Given the description of an element on the screen output the (x, y) to click on. 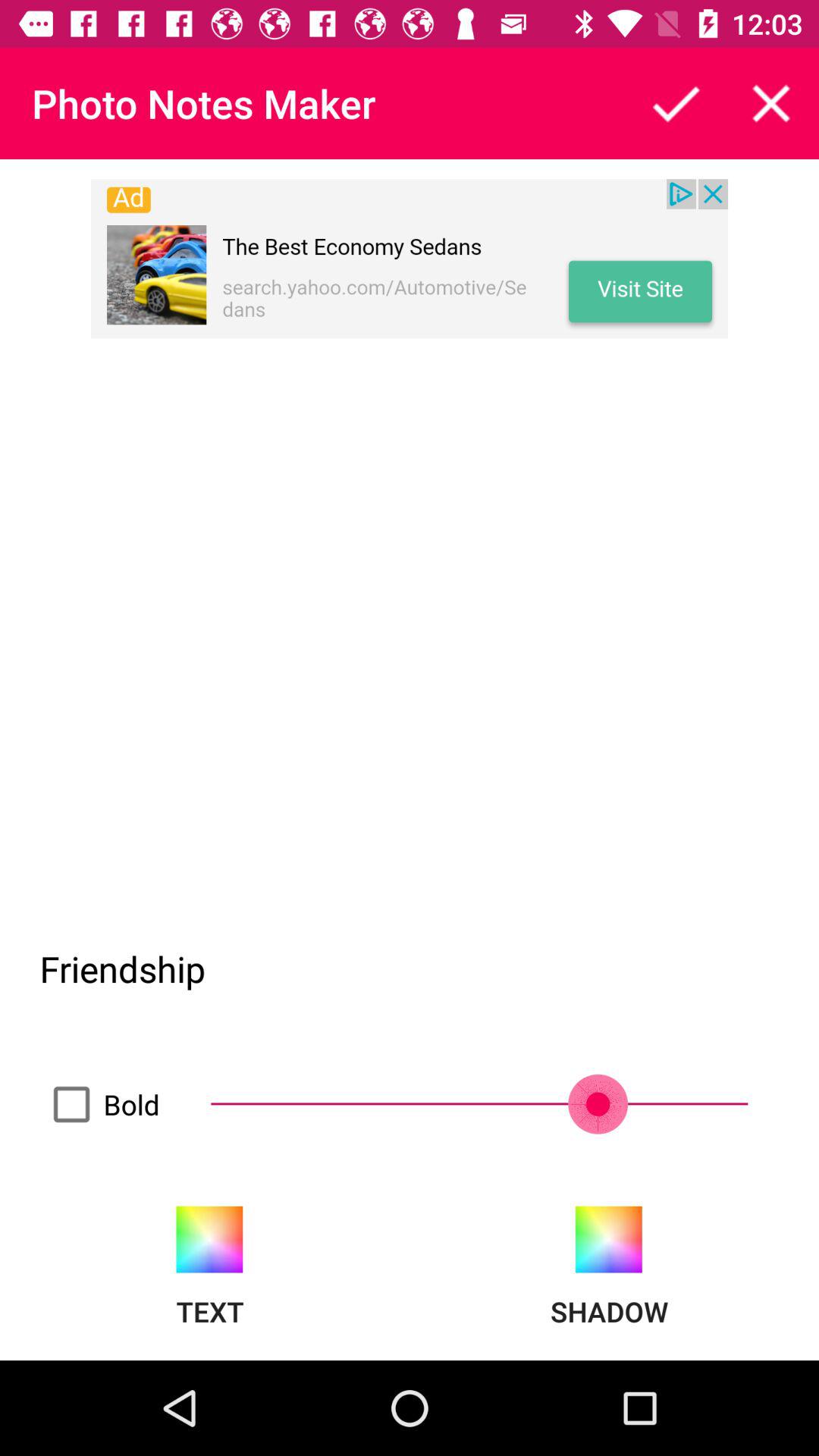
save (675, 103)
